Given the description of an element on the screen output the (x, y) to click on. 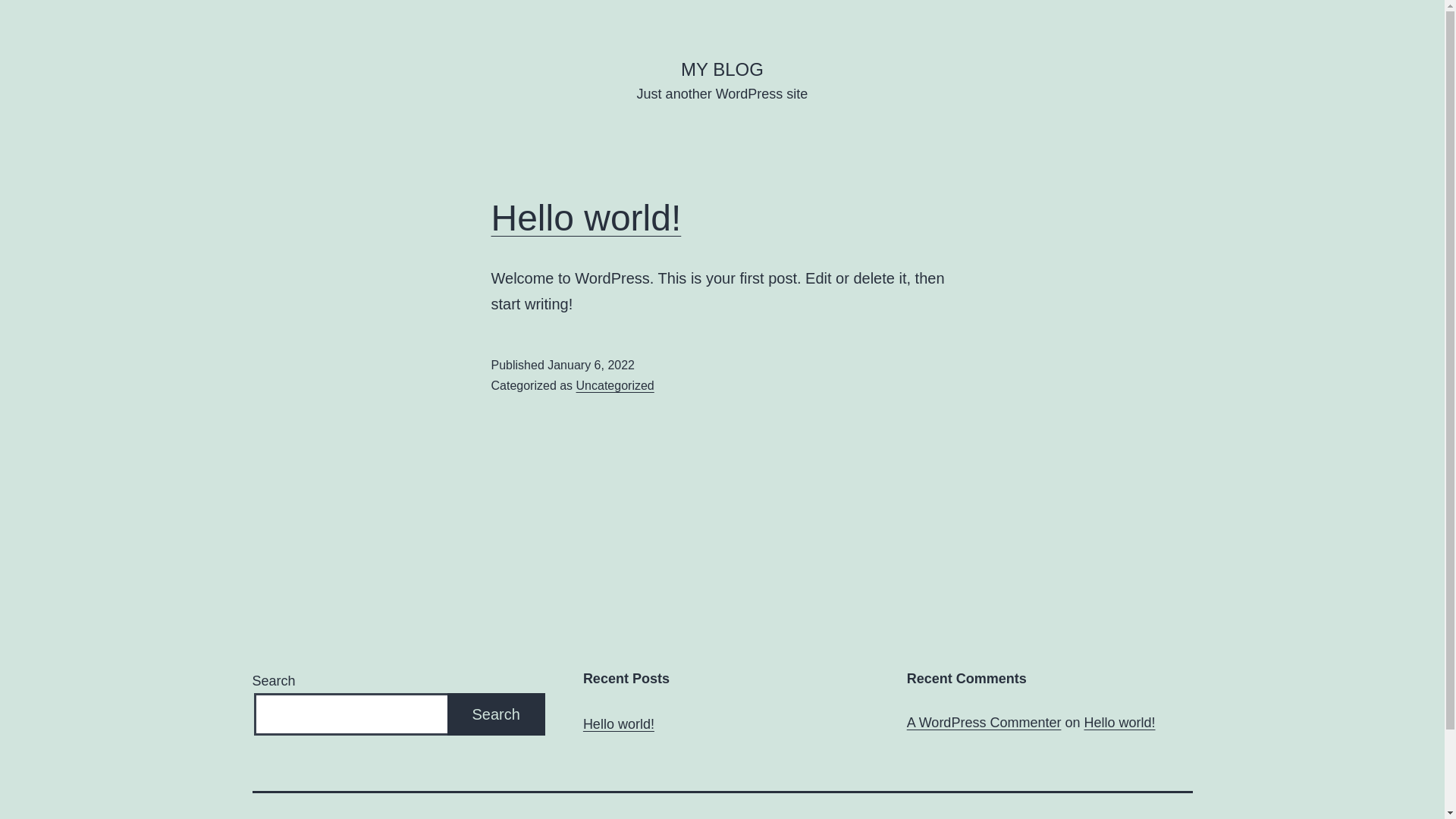
Uncategorized Element type: text (615, 385)
Hello world! Element type: text (618, 724)
Search Element type: text (496, 714)
A WordPress Commenter Element type: text (983, 722)
Hello world! Element type: text (586, 217)
Hello world! Element type: text (1118, 722)
